Given the description of an element on the screen output the (x, y) to click on. 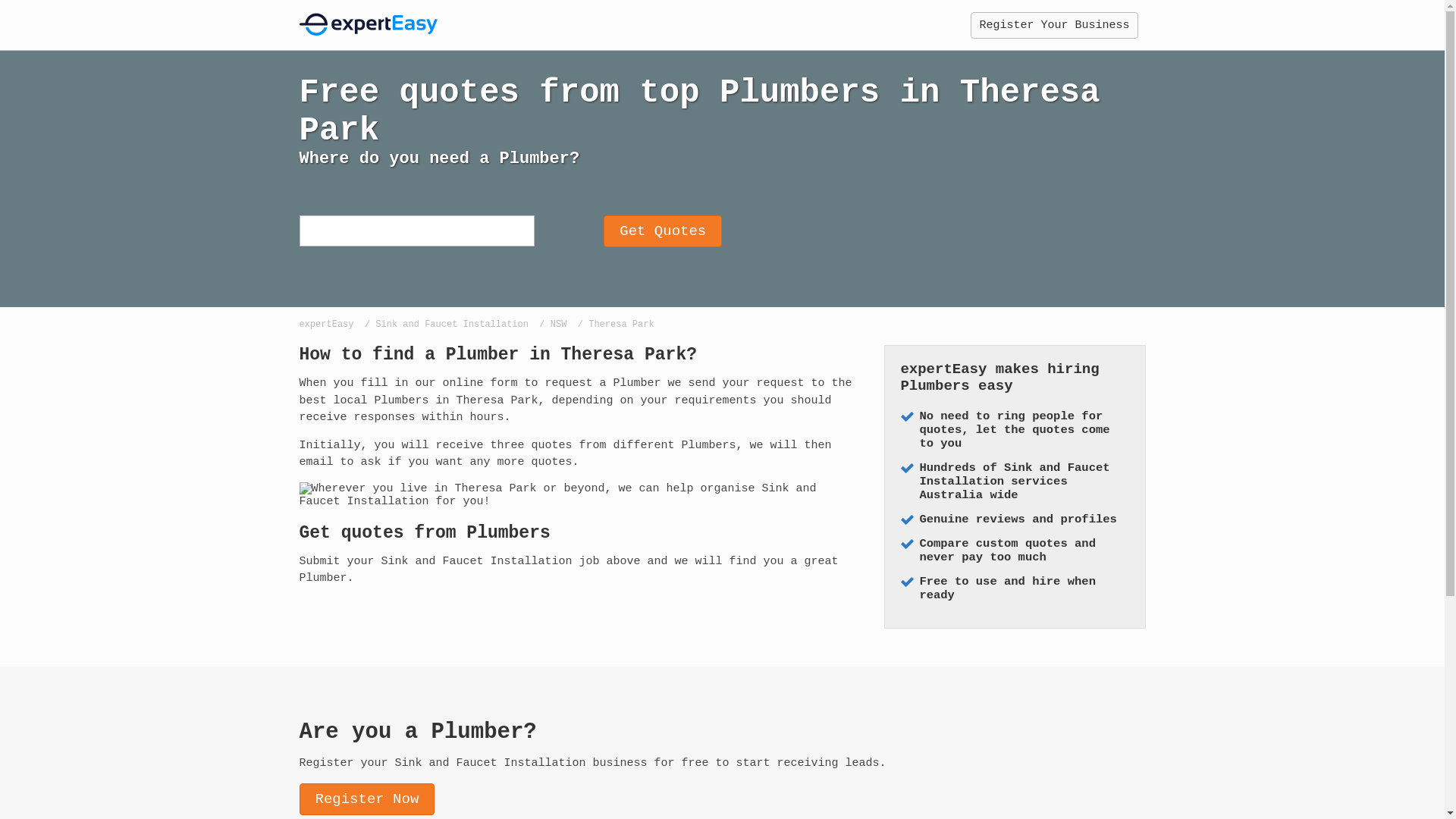
expertEasy Element type: text (325, 324)
Register Your Business Element type: text (1053, 25)
NSW Element type: text (558, 324)
Sink and Faucet Installation Element type: text (451, 324)
Get Quotes Element type: text (662, 231)
Register Now Element type: text (366, 799)
